Given the description of an element on the screen output the (x, y) to click on. 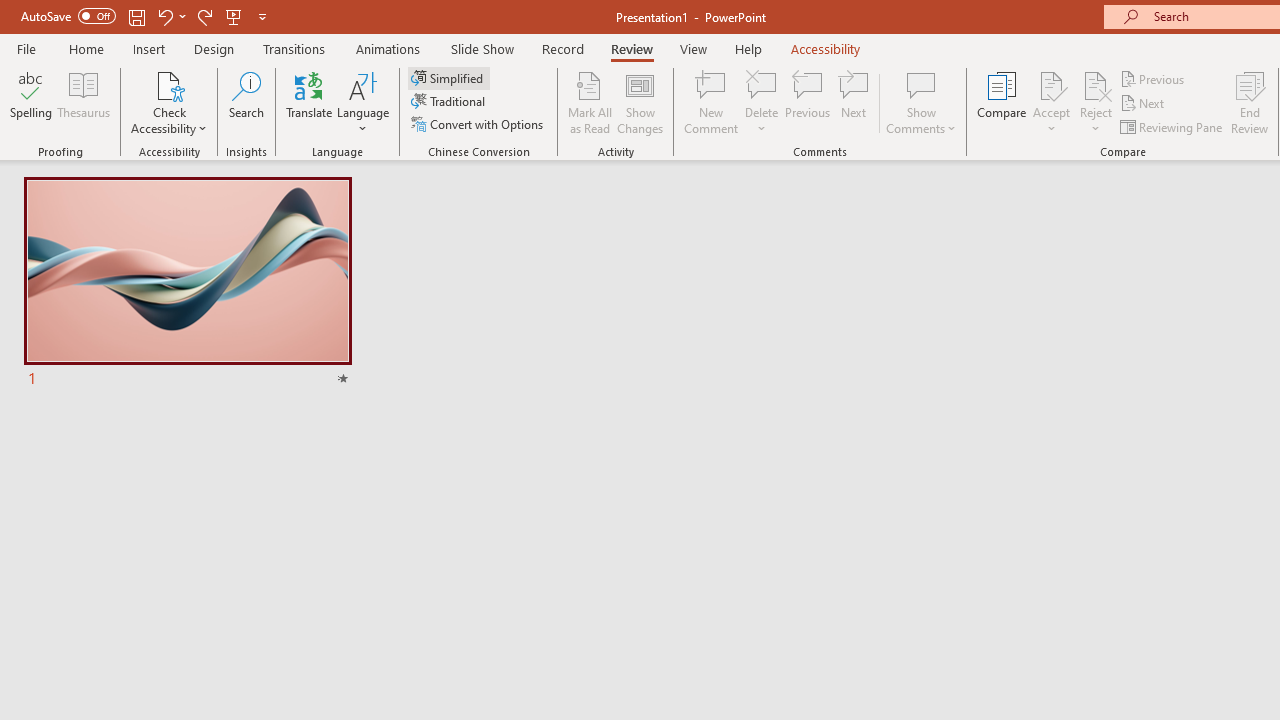
Customize Quick Access Toolbar (262, 15)
Animations (388, 48)
Slide Show (481, 48)
Reject Change (1096, 84)
Undo (164, 15)
New Comment (711, 102)
Design (214, 48)
Simplified (449, 78)
Next (1144, 103)
Show Comments (921, 102)
System (10, 11)
Transitions (294, 48)
Convert with Options... (479, 124)
End Review (1249, 102)
